Given the description of an element on the screen output the (x, y) to click on. 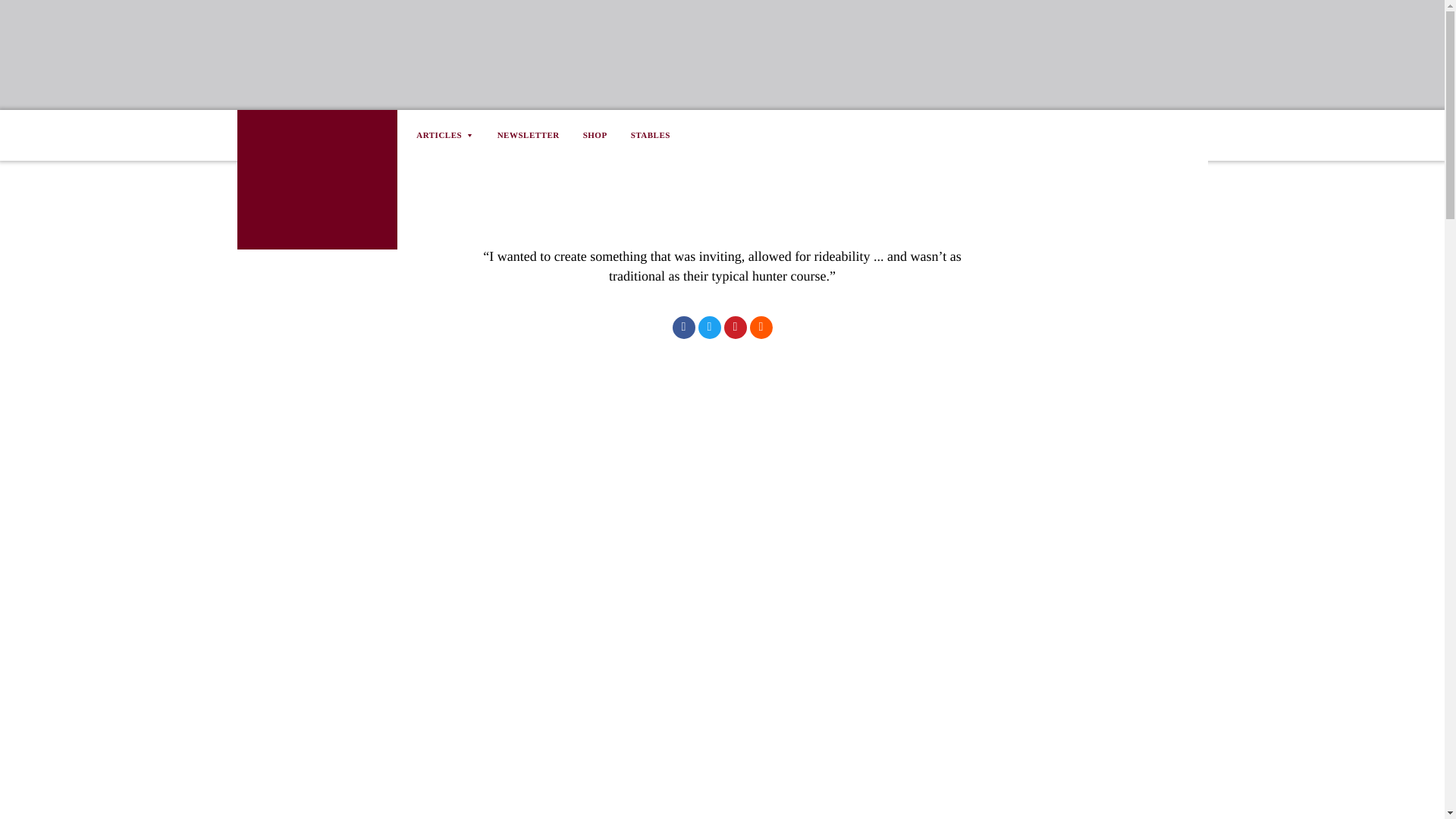
NEWSLETTER (527, 134)
ARTICLES (450, 134)
STABLES (649, 134)
SHOP (594, 134)
